Given the description of an element on the screen output the (x, y) to click on. 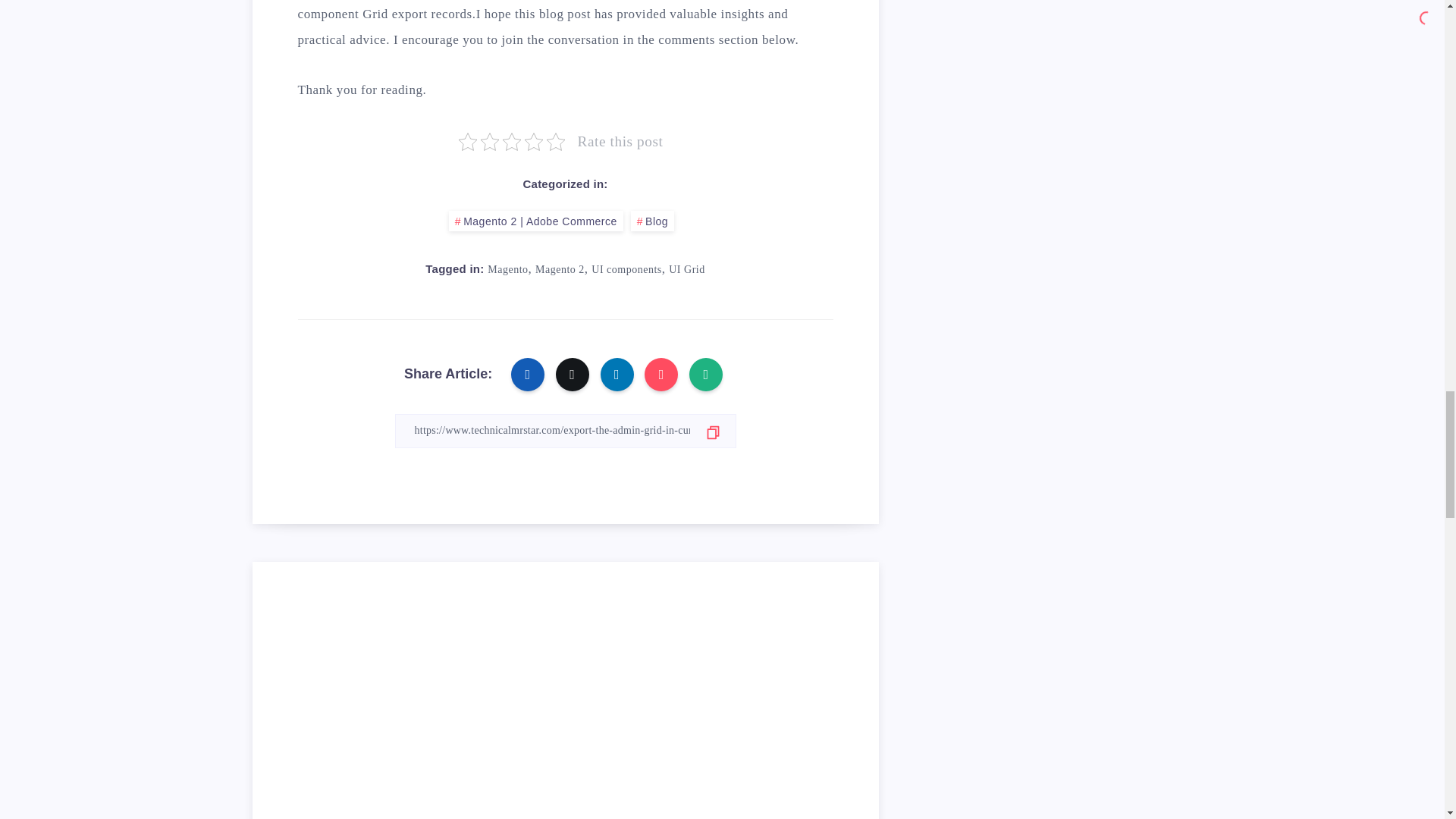
Blog (652, 220)
Magento (507, 269)
Advertisement (564, 713)
UI Grid (686, 269)
Magento 2 (560, 269)
UI components (626, 269)
